Given the description of an element on the screen output the (x, y) to click on. 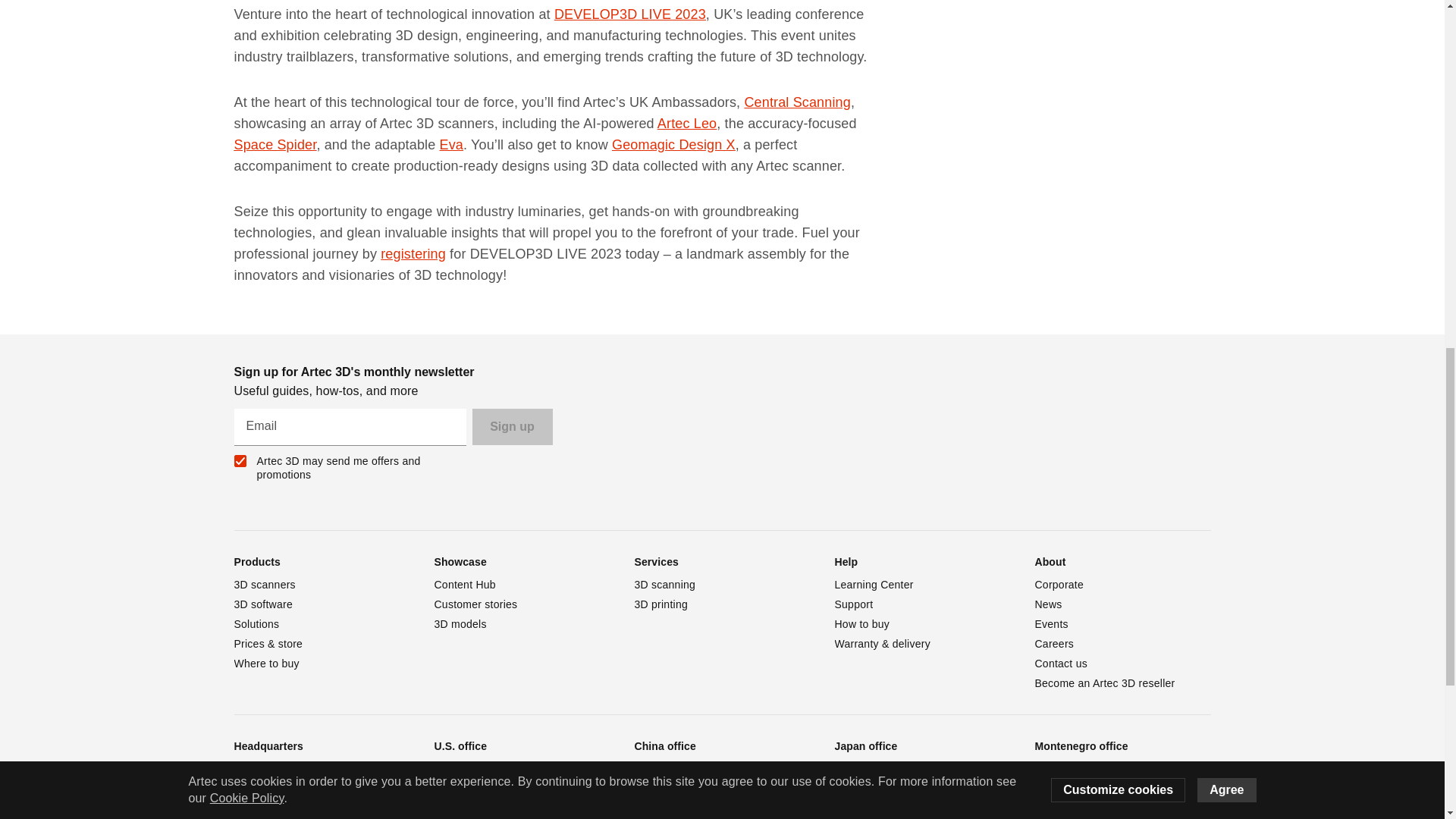
Sign up (511, 426)
